Given the description of an element on the screen output the (x, y) to click on. 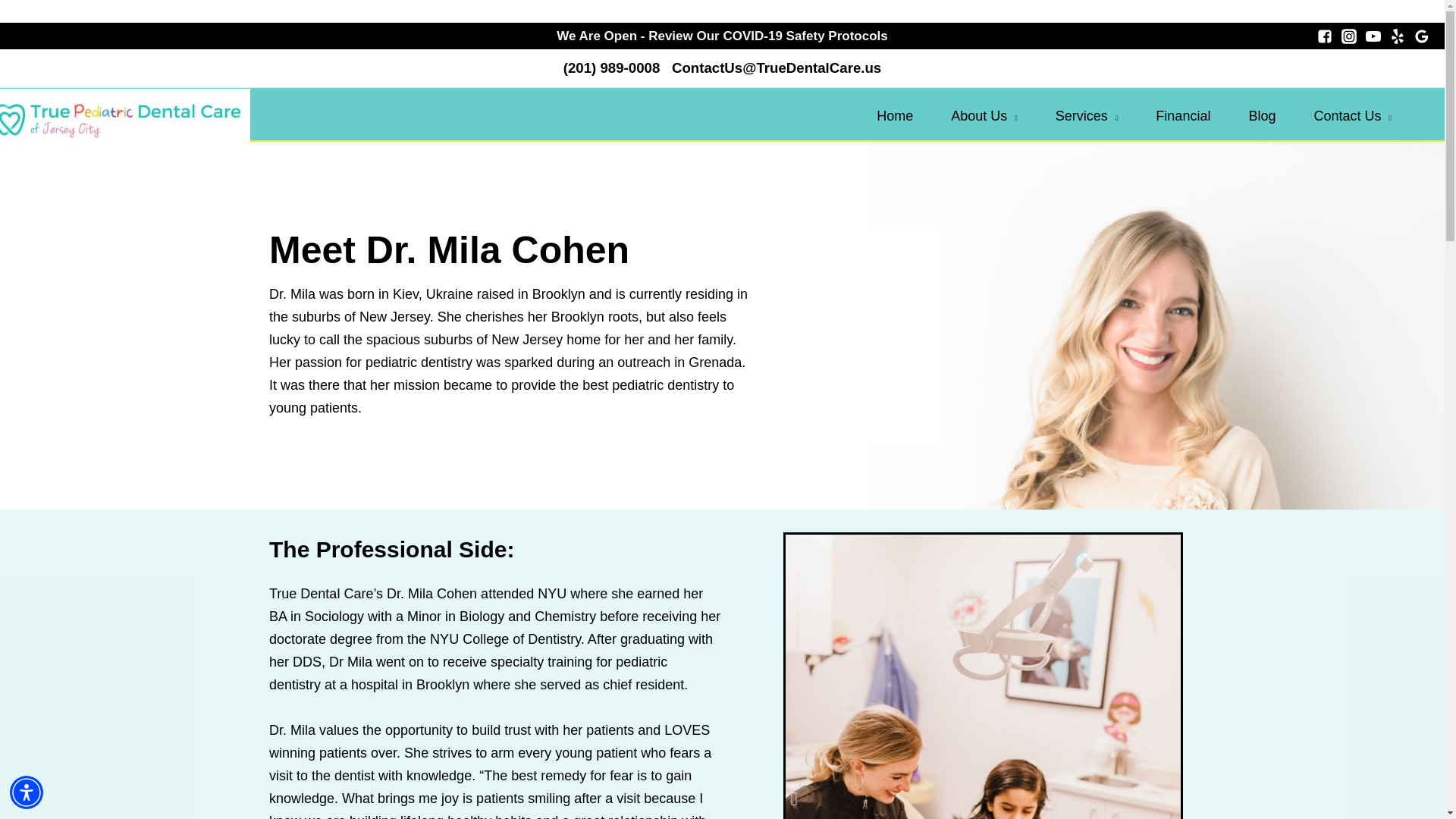
About Us (1002, 115)
Accessibility Menu (26, 792)
Financial (1201, 115)
Home (913, 115)
Services (1105, 115)
Blog (1280, 115)
